Given the description of an element on the screen output the (x, y) to click on. 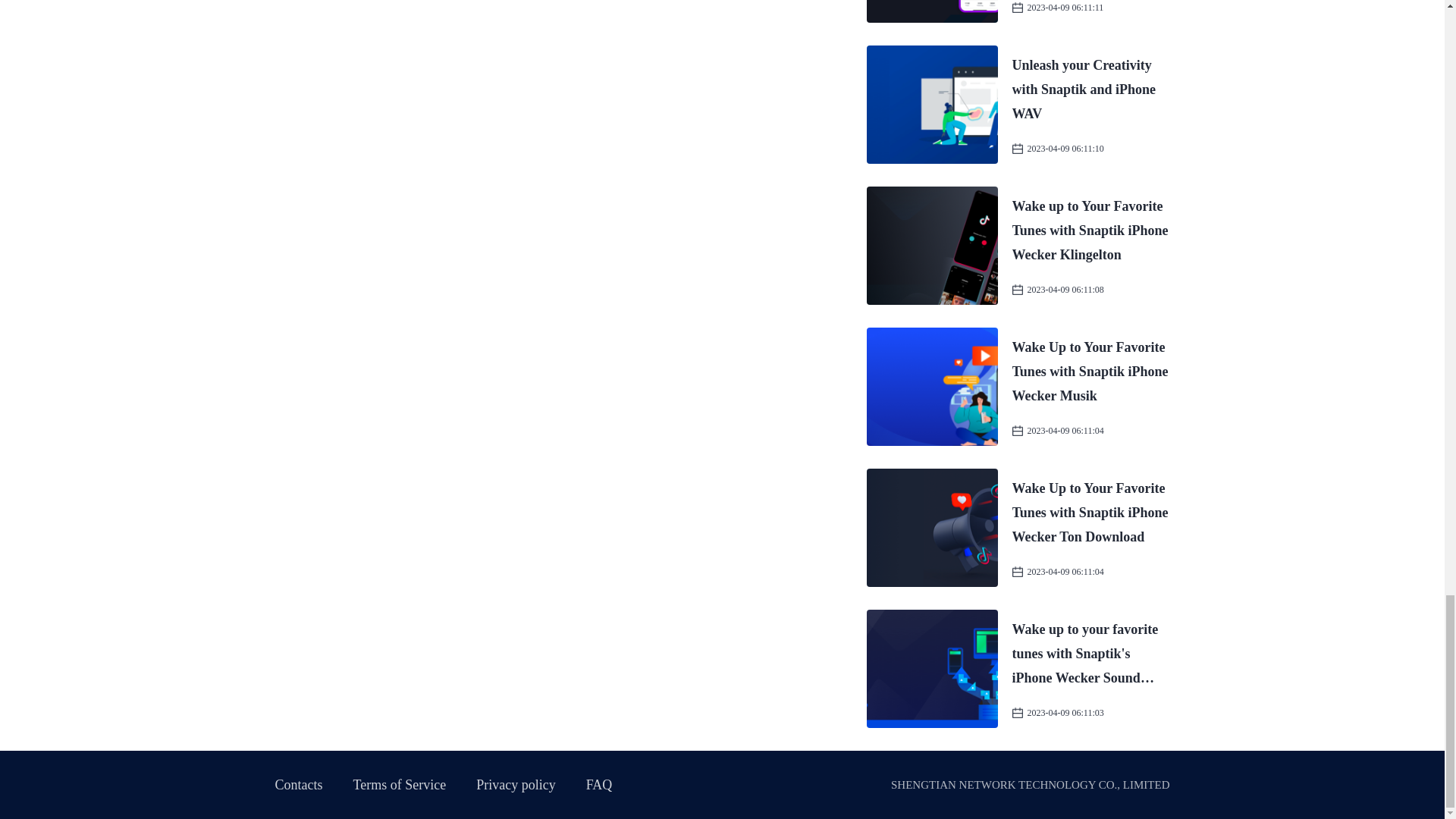
Privacy policy (515, 784)
FAQ (599, 784)
Terms of Service (399, 784)
Contacts (298, 784)
